Given the description of an element on the screen output the (x, y) to click on. 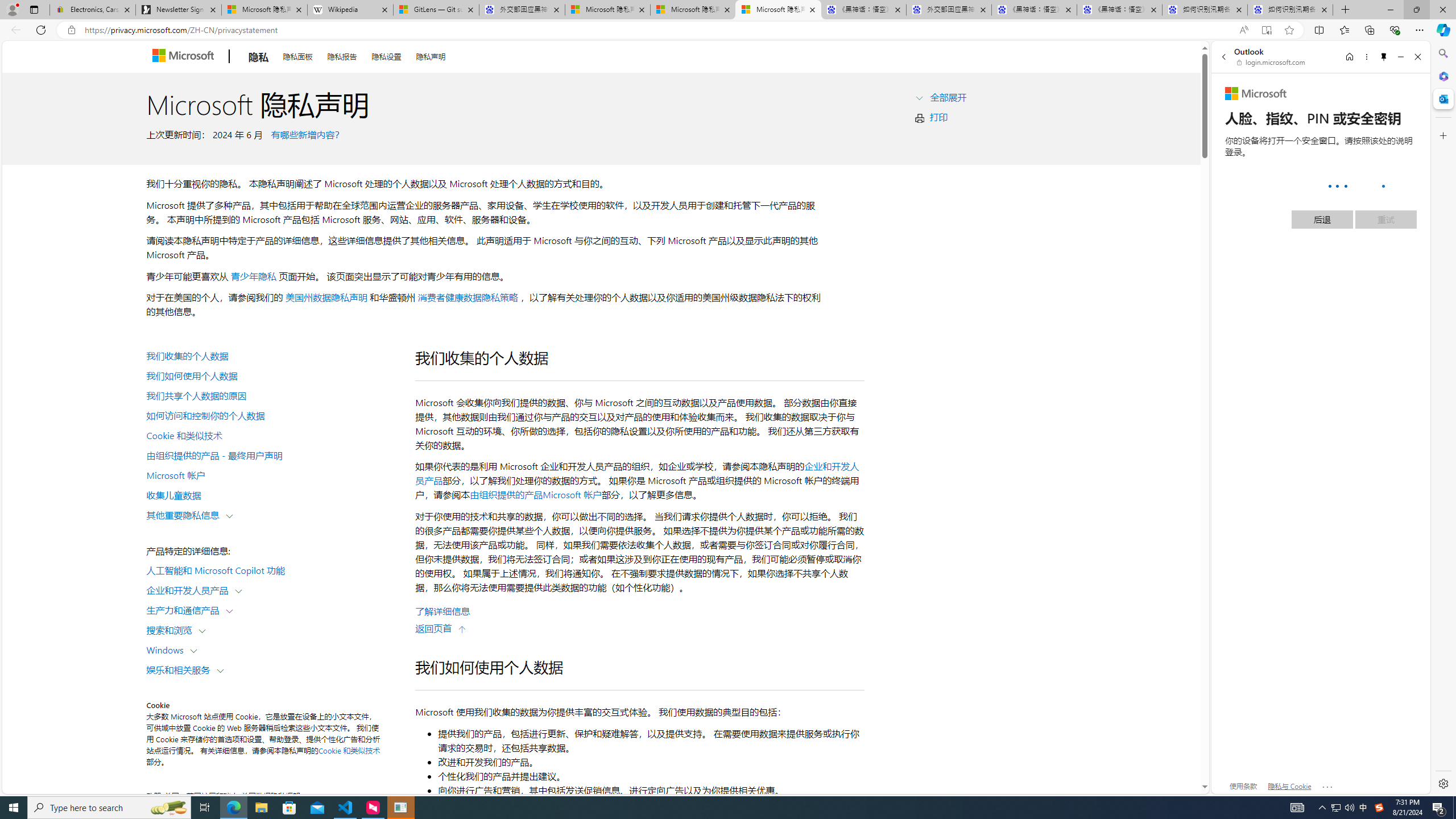
Newsletter Sign Up (178, 9)
